Given the description of an element on the screen output the (x, y) to click on. 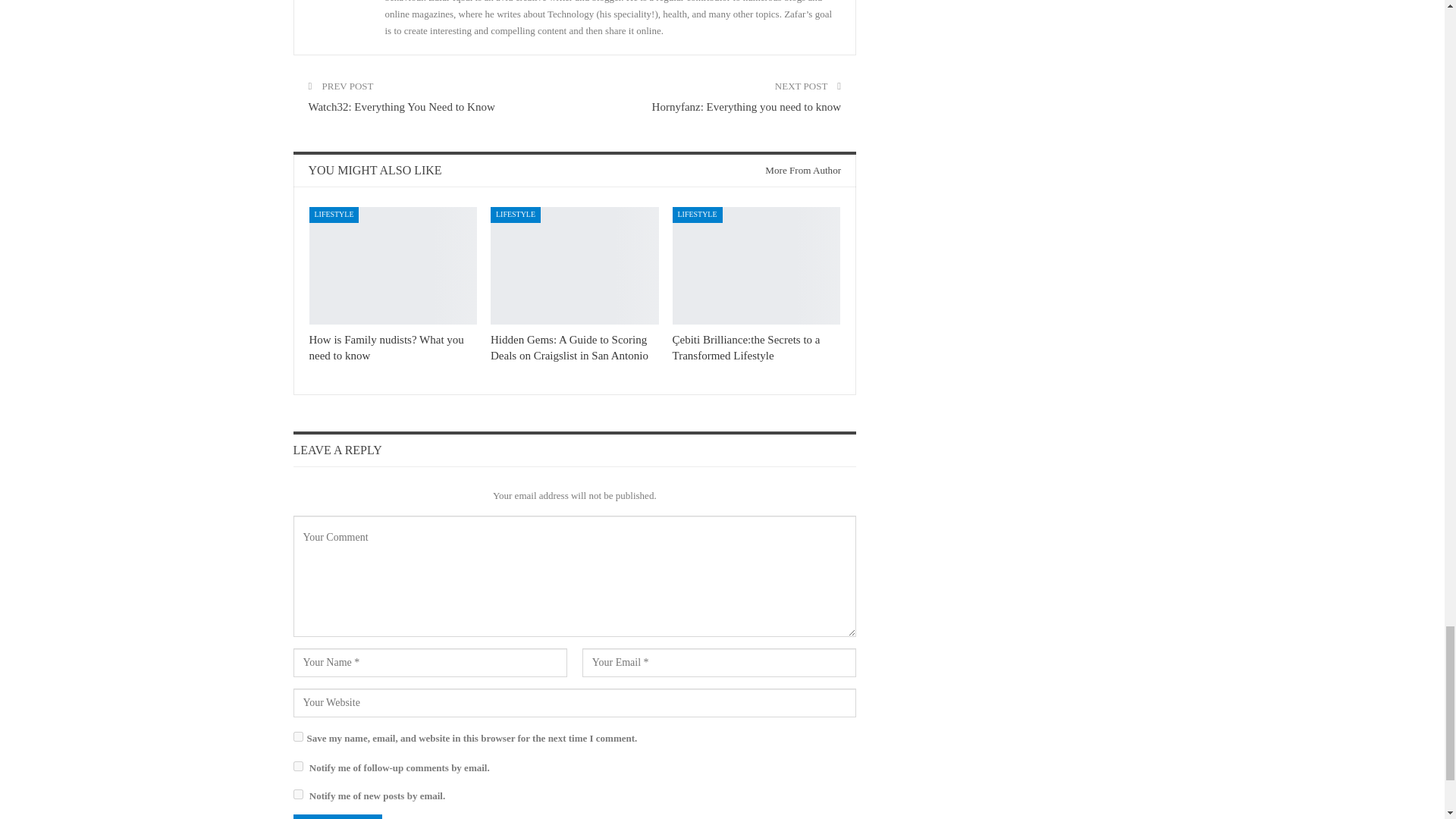
subscribe (297, 794)
Post Comment (336, 816)
yes (297, 737)
subscribe (297, 766)
